Given the description of an element on the screen output the (x, y) to click on. 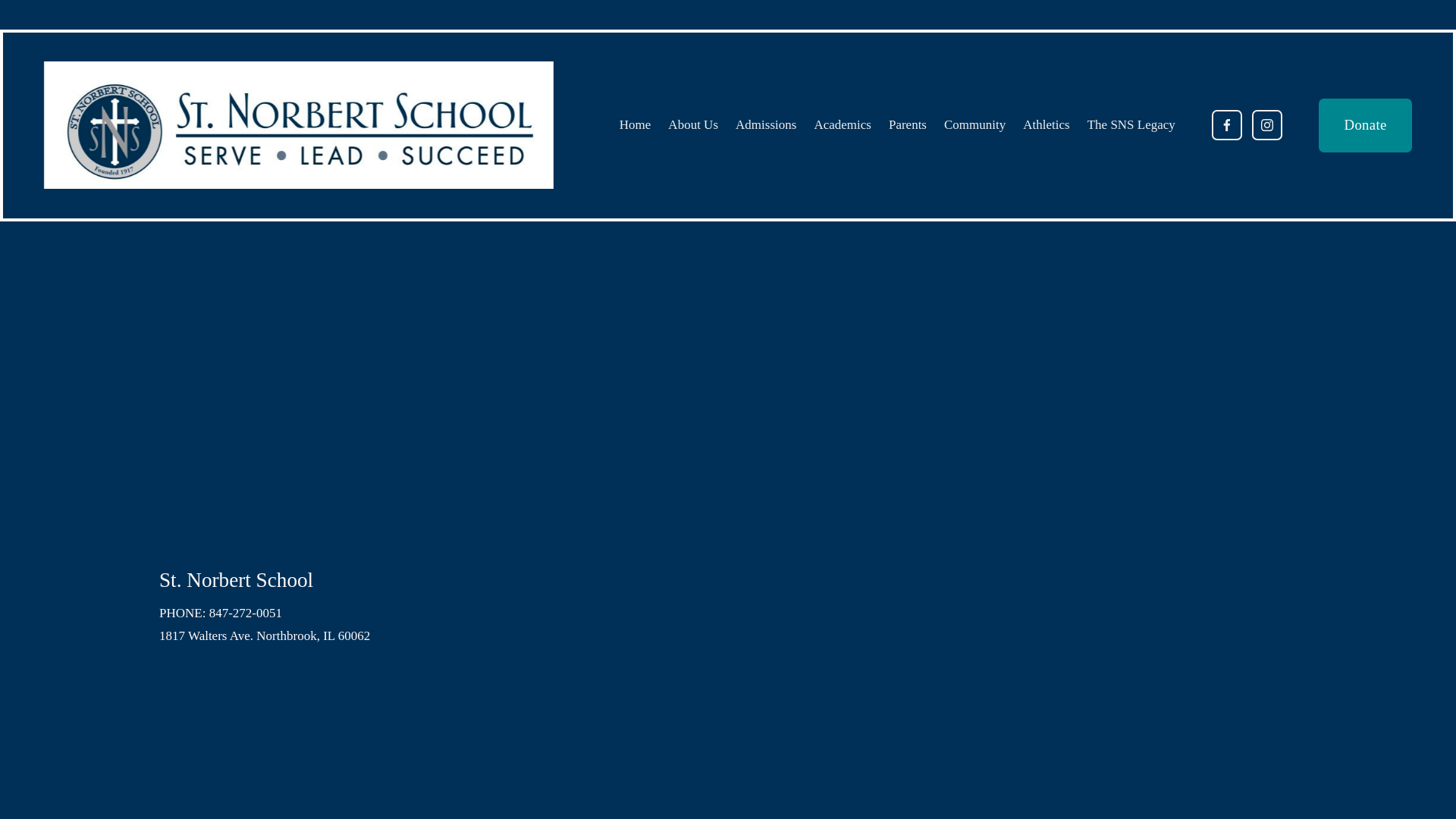
Parents (907, 125)
Academics (841, 125)
Admissions (765, 125)
Home (635, 125)
Community (974, 125)
About Us (692, 125)
